Given the description of an element on the screen output the (x, y) to click on. 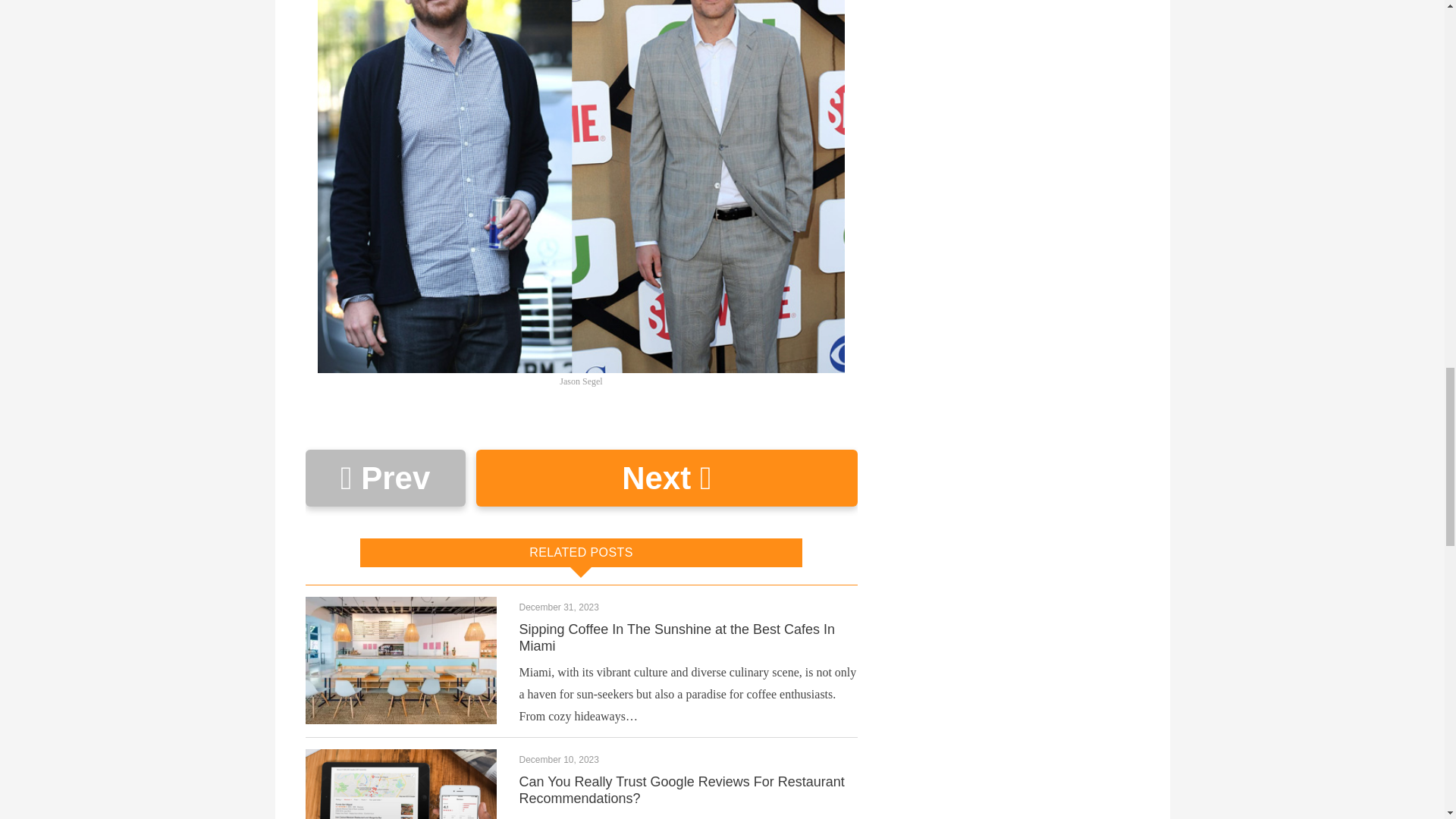
Sipping Coffee In The Sunshine at the Best Cafes In Miami (676, 637)
Prev (384, 477)
Next (666, 477)
